Given the description of an element on the screen output the (x, y) to click on. 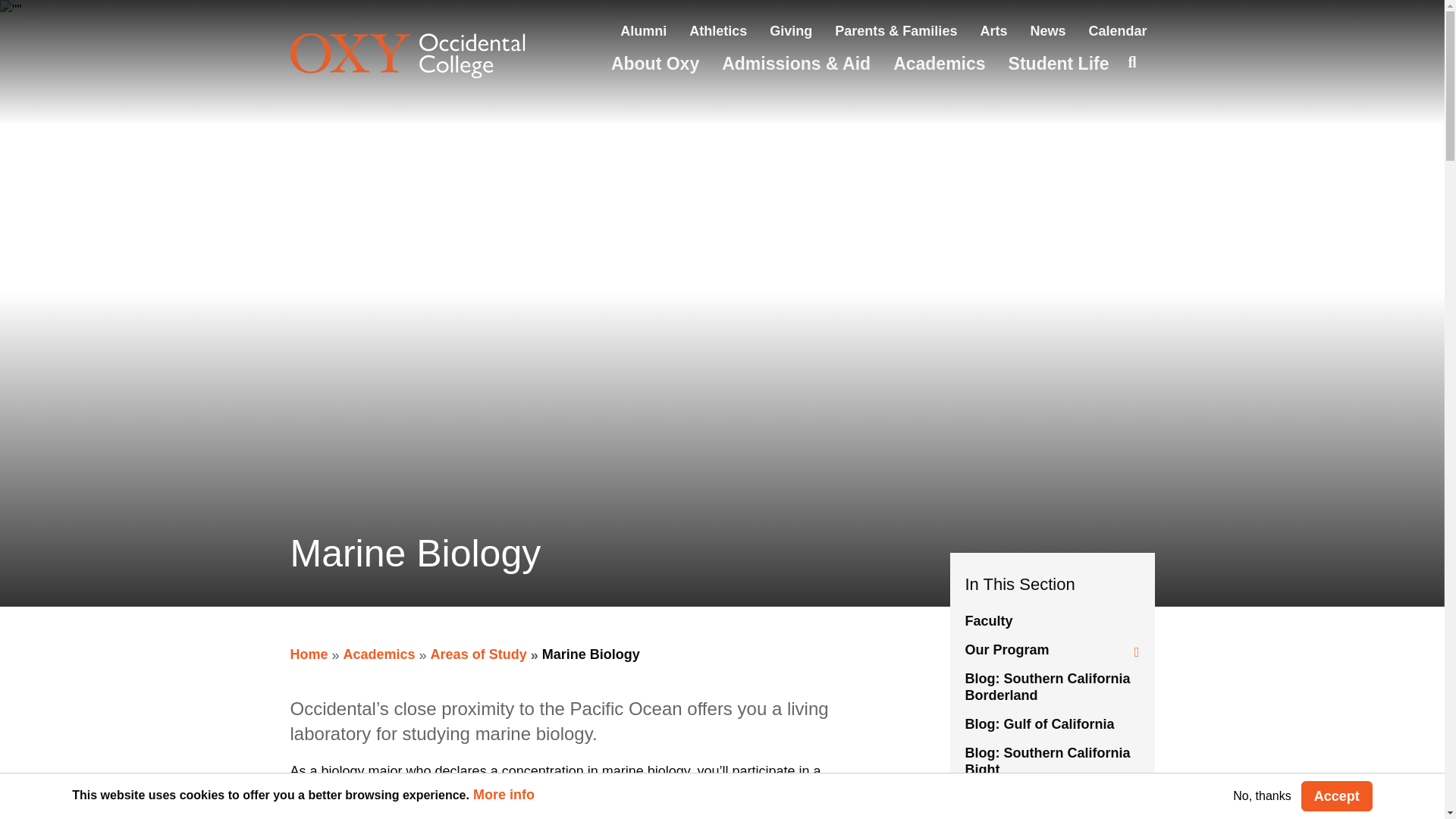
Home (428, 55)
Academics (938, 63)
Athletics (717, 30)
Alumni (643, 30)
News (1047, 30)
About Oxy (654, 63)
Giving (791, 30)
Arts (993, 30)
Calendar (1117, 30)
Student Life (1059, 63)
